Given the description of an element on the screen output the (x, y) to click on. 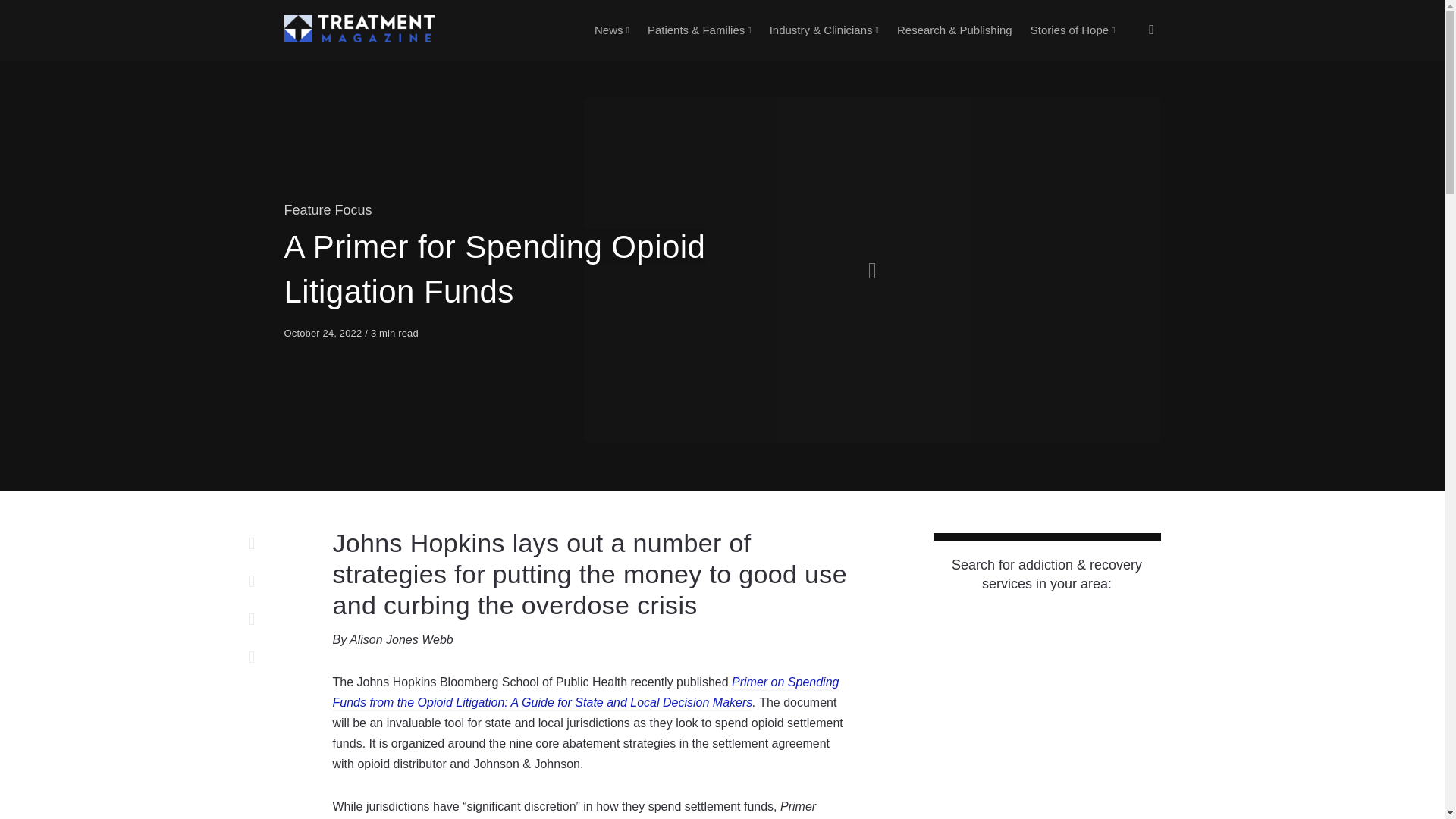
Stories of Hope (1073, 30)
Feature Focus (327, 209)
October 24, 2022 (324, 333)
October 24, 2022 (324, 333)
